Given the description of an element on the screen output the (x, y) to click on. 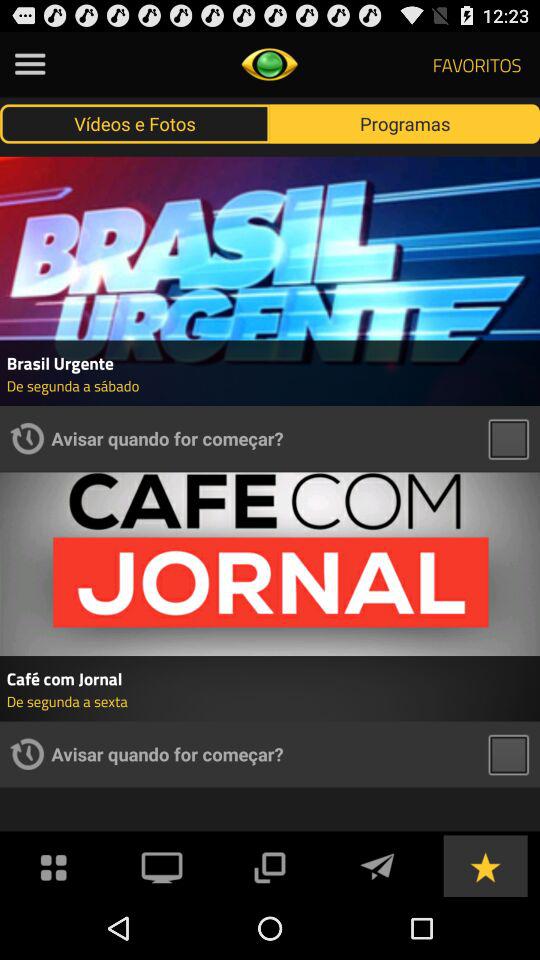
toggle menu (54, 865)
